Given the description of an element on the screen output the (x, y) to click on. 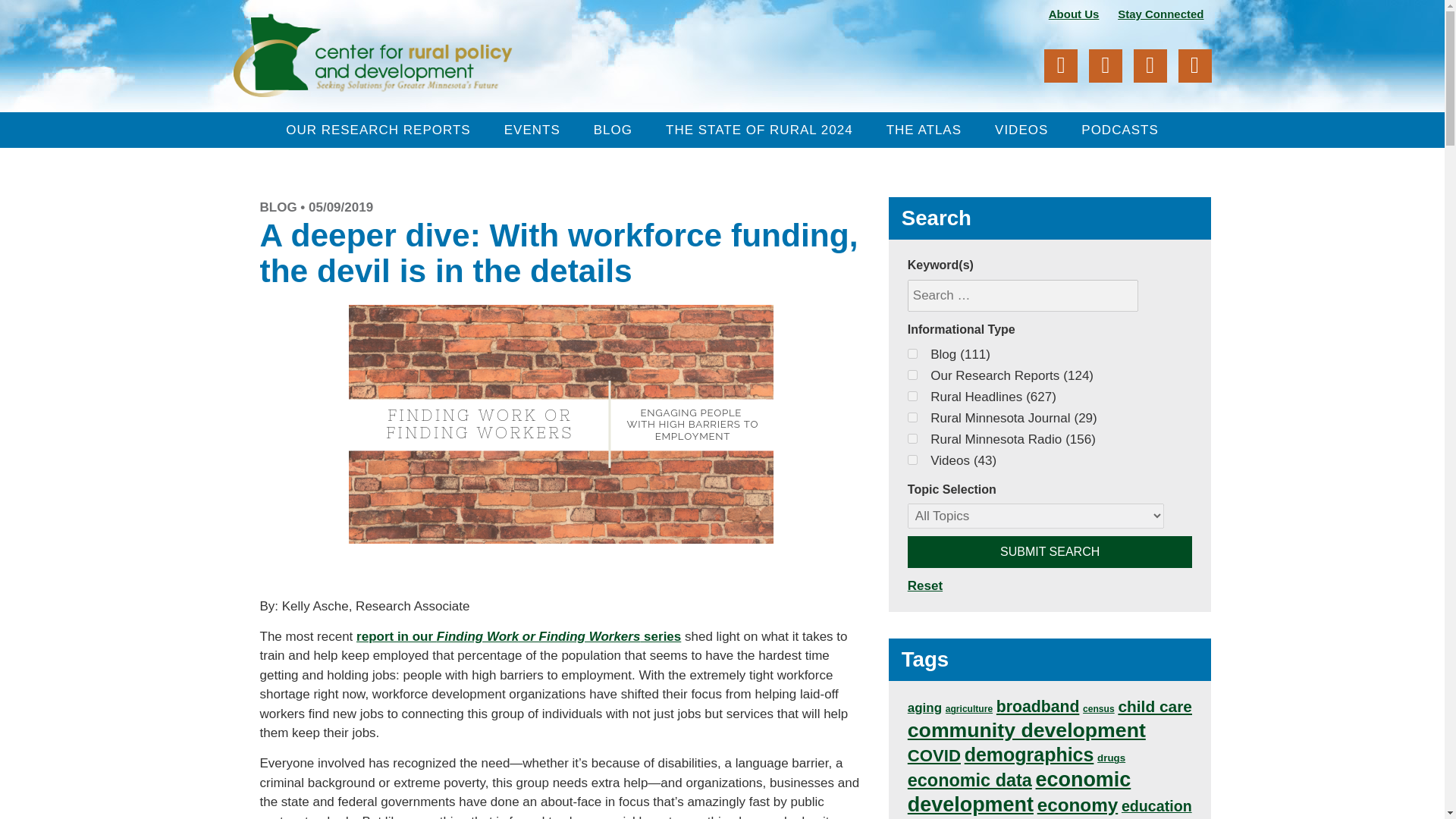
demographics (1028, 753)
rural-minnesota-radio (912, 438)
aging (924, 707)
OUR RESEARCH REPORTS (378, 130)
Stay Connected (1160, 12)
Reset (924, 585)
our-research (912, 375)
VIDEOS (1020, 130)
THE ATLAS (923, 130)
broadband (1036, 705)
